Given the description of an element on the screen output the (x, y) to click on. 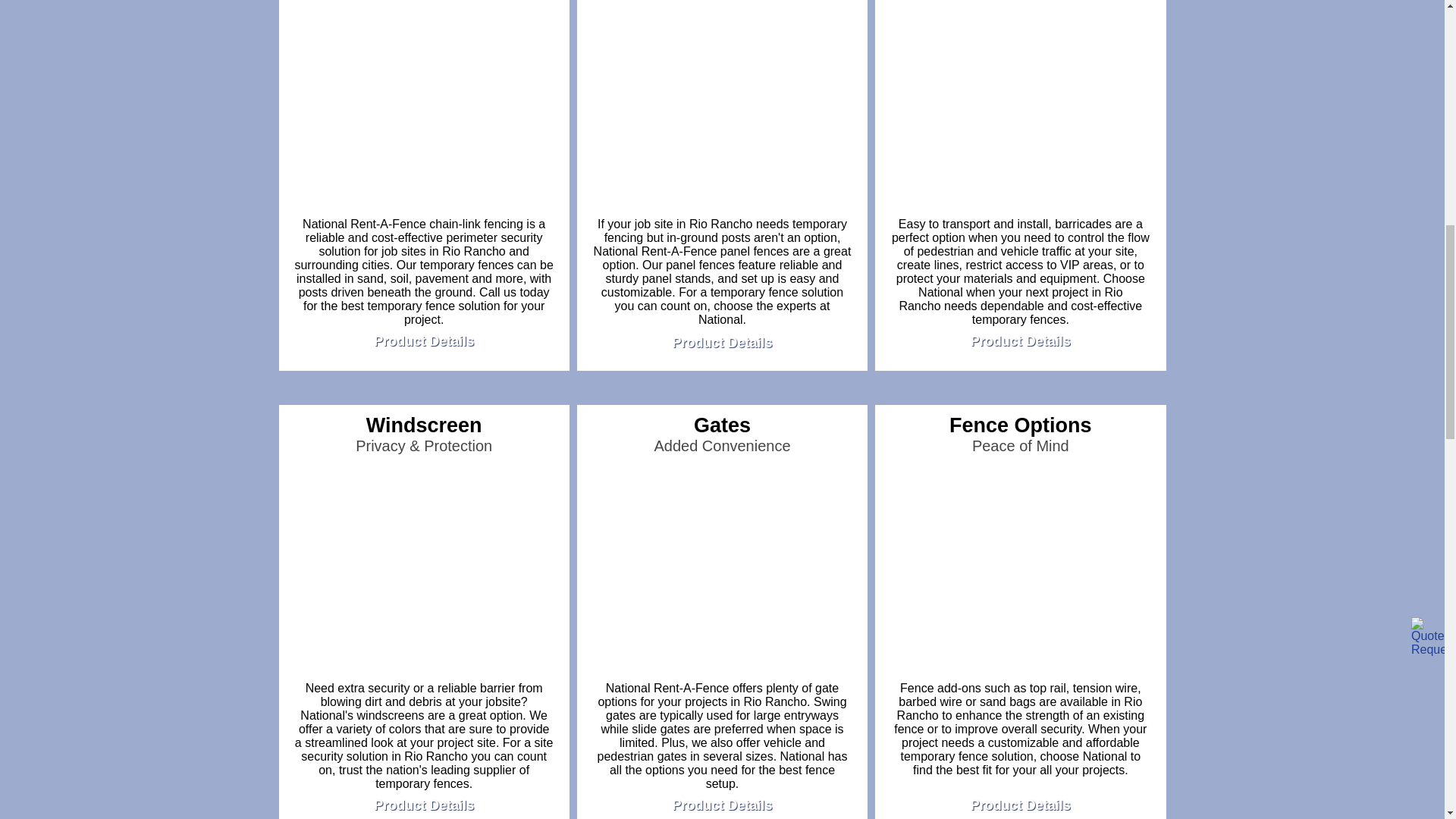
Windscreen (424, 572)
Barricades (1020, 108)
Chain Link Fence (424, 108)
Gates (721, 572)
Fence Options (1020, 573)
Panel Fencing (721, 108)
